Given the description of an element on the screen output the (x, y) to click on. 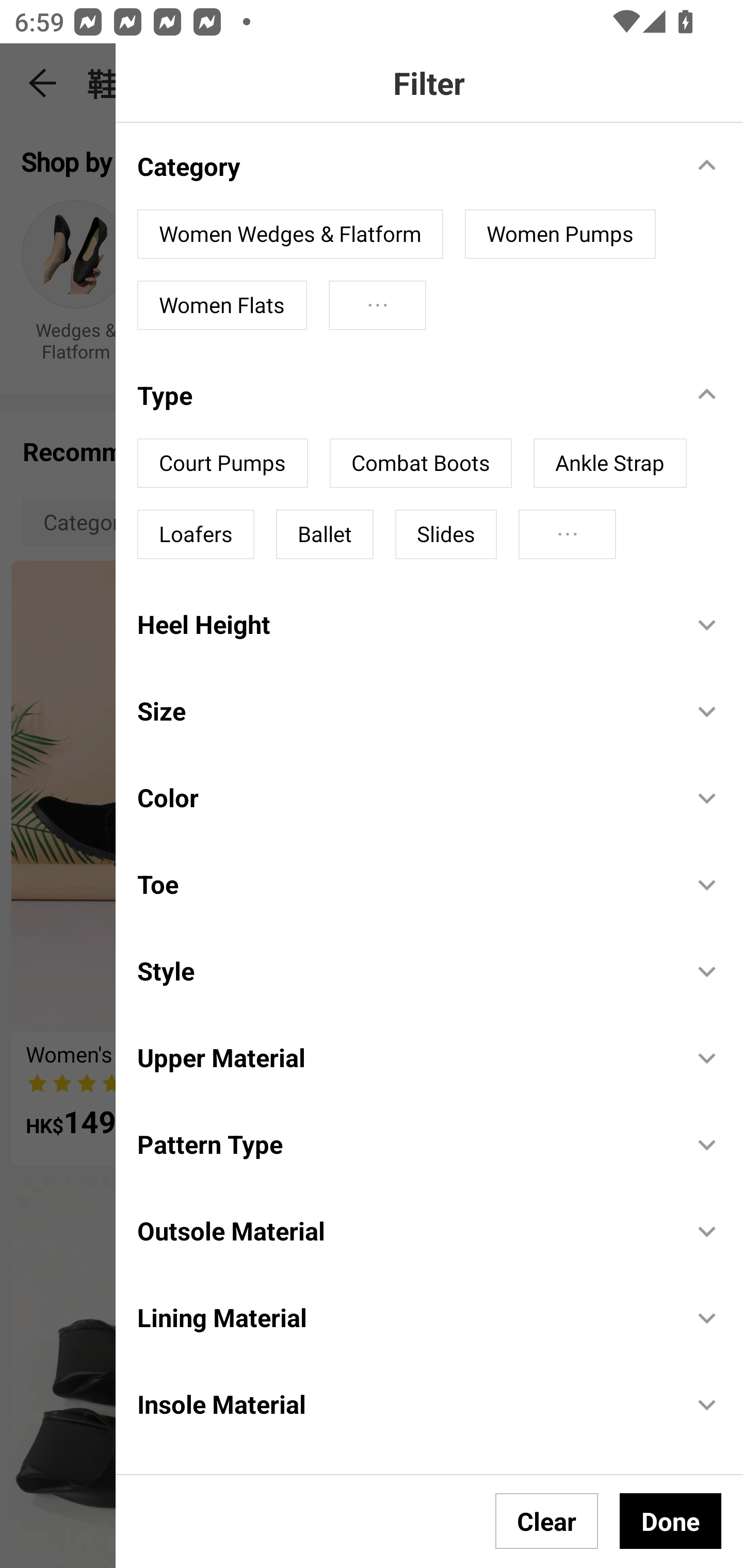
Category (403, 166)
Women Wedges & Flatform (290, 234)
Women Pumps (560, 234)
Women Flats (221, 305)
Type (403, 395)
Court Pumps (222, 463)
Combat Boots (420, 463)
Ankle Strap (609, 463)
Loafers (195, 534)
Ballet (324, 534)
Slides (446, 534)
Heel Height (403, 624)
Size (403, 710)
Color (403, 797)
Toe (403, 884)
Style (403, 970)
Upper Material (403, 1057)
Pattern Type (403, 1143)
Outsole Material (403, 1230)
Lining Material (403, 1317)
Insole Material (403, 1403)
Clear (546, 1520)
Done (670, 1520)
